Given the description of an element on the screen output the (x, y) to click on. 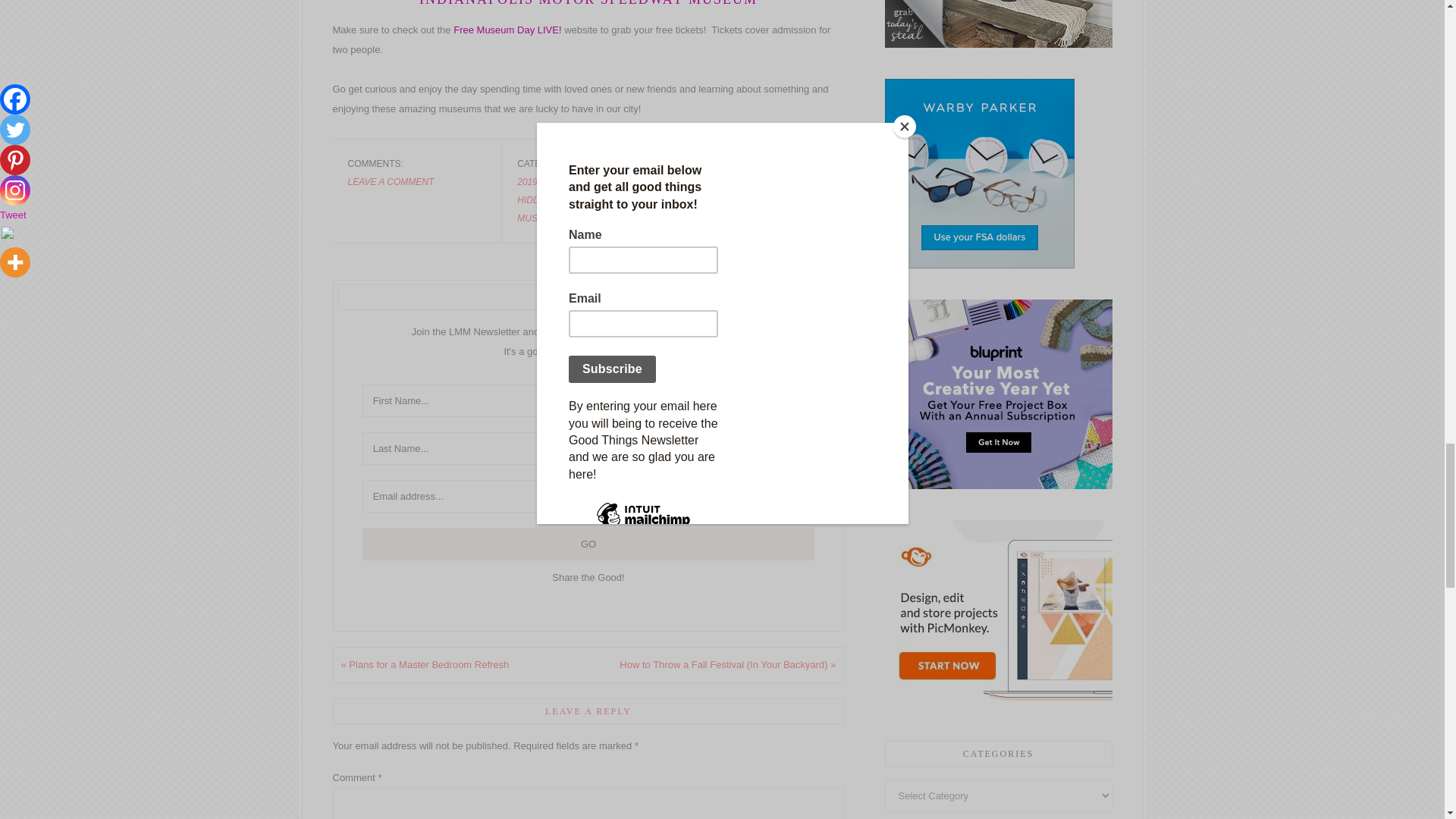
INDIANAPOLIS MOTOR SPEEDWAY MUSEUM (588, 3)
Free Museum Day LIVE! (506, 30)
Go (588, 543)
